Given the description of an element on the screen output the (x, y) to click on. 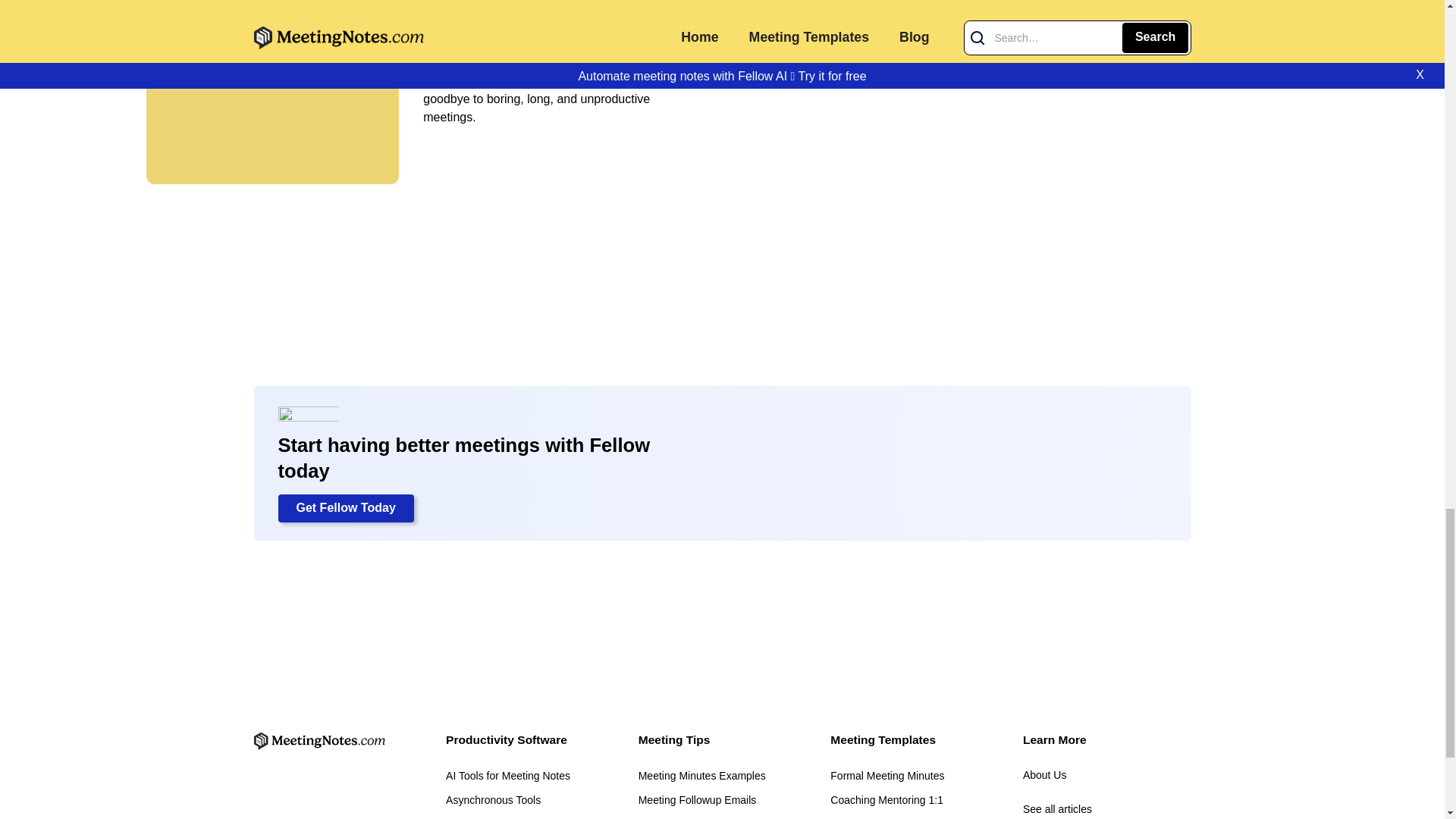
Quarterly Planning Meeting (894, 818)
AI Tools for Meeting Notes (507, 776)
See all articles (1107, 809)
Get Fellow Today (345, 508)
About Us (1107, 775)
Meeting Minutes Examples (702, 776)
Meeting Followup Emails (698, 800)
Coaching Mentoring 1:1 (886, 800)
Formal Meeting Minutes (886, 776)
